Given the description of an element on the screen output the (x, y) to click on. 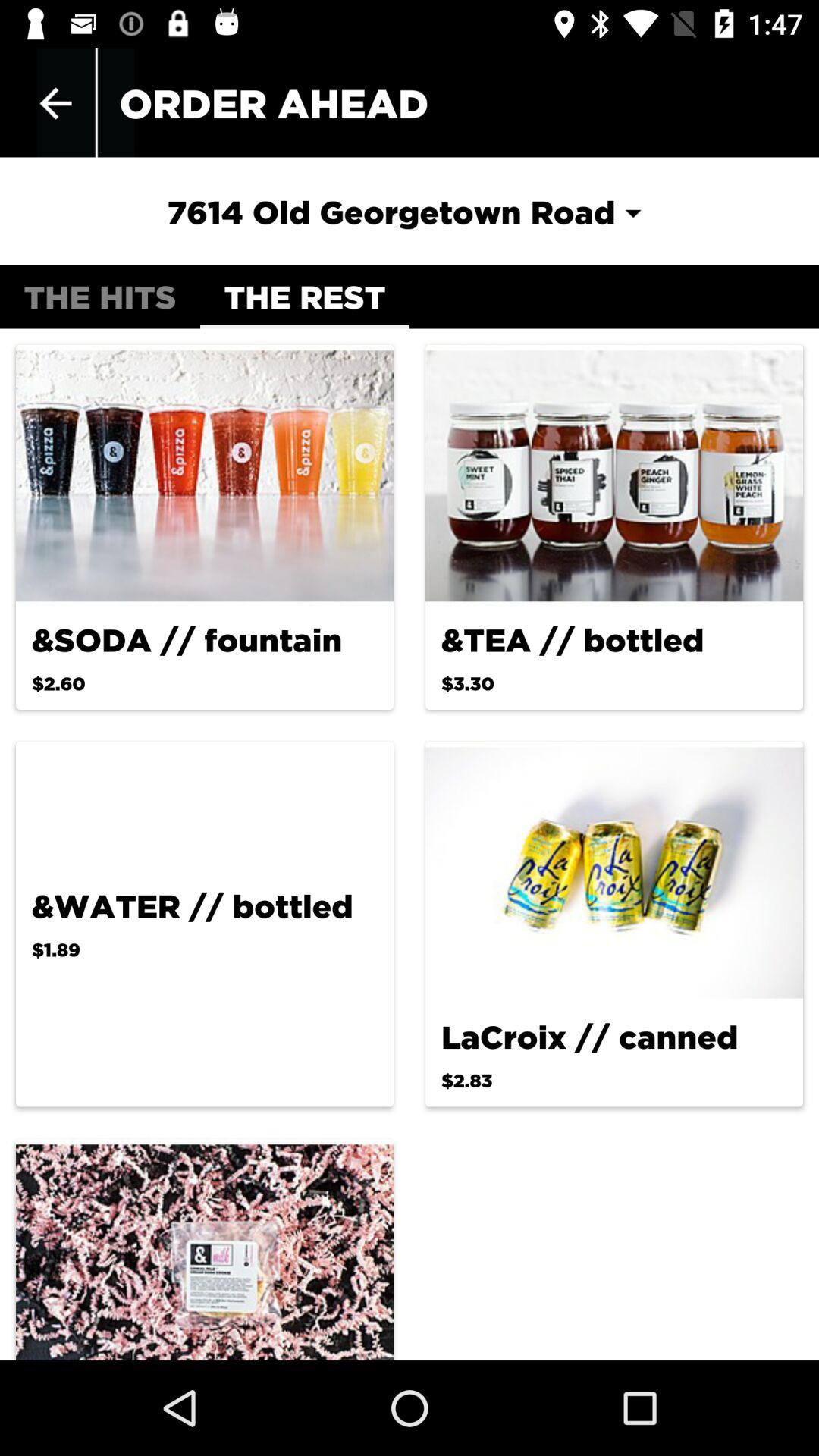
choose icon above the the hits item (409, 212)
